Given the description of an element on the screen output the (x, y) to click on. 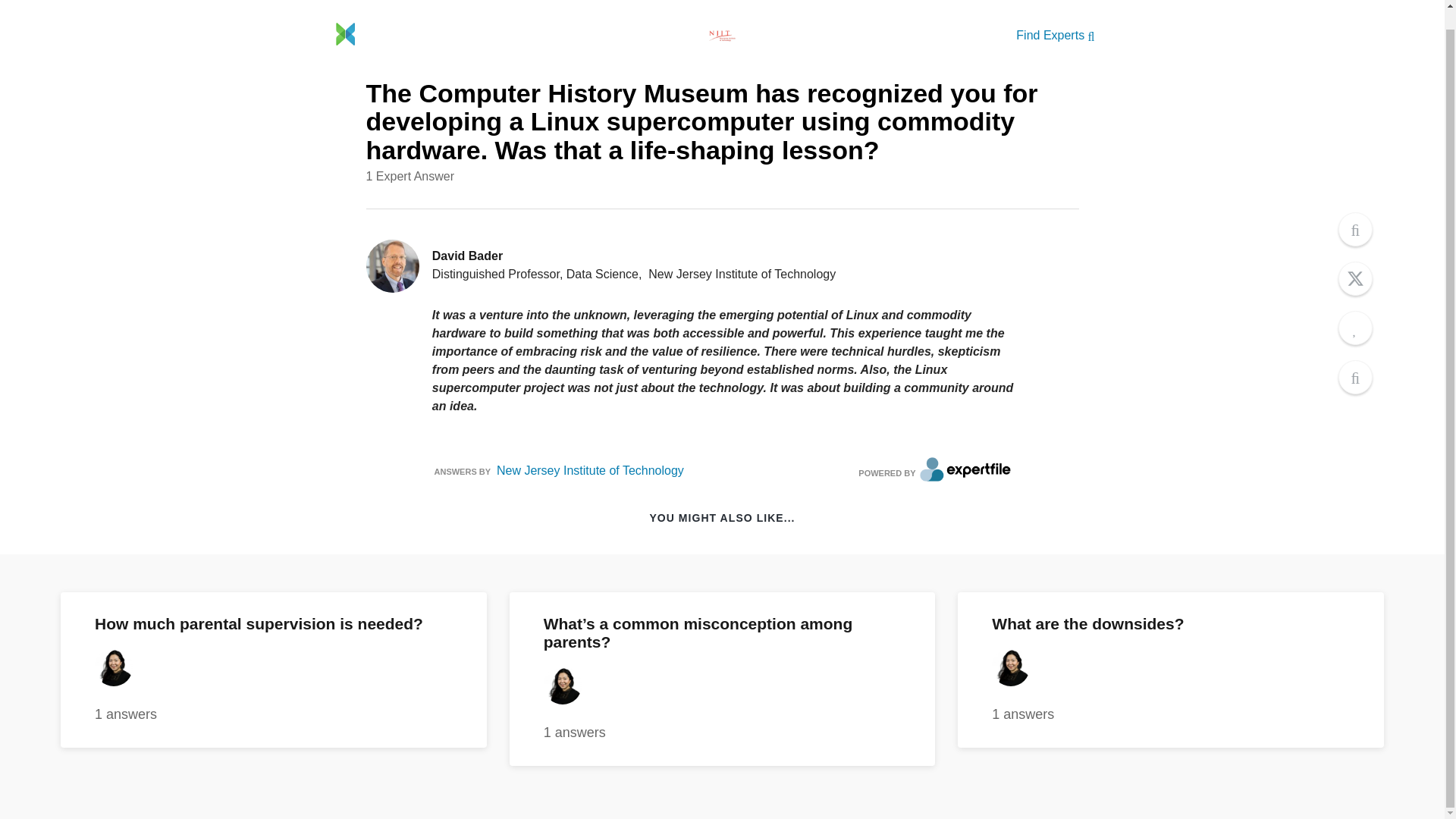
David Bader (467, 255)
New Jersey Institute of Technology (590, 470)
Find Experts (273, 669)
